Given the description of an element on the screen output the (x, y) to click on. 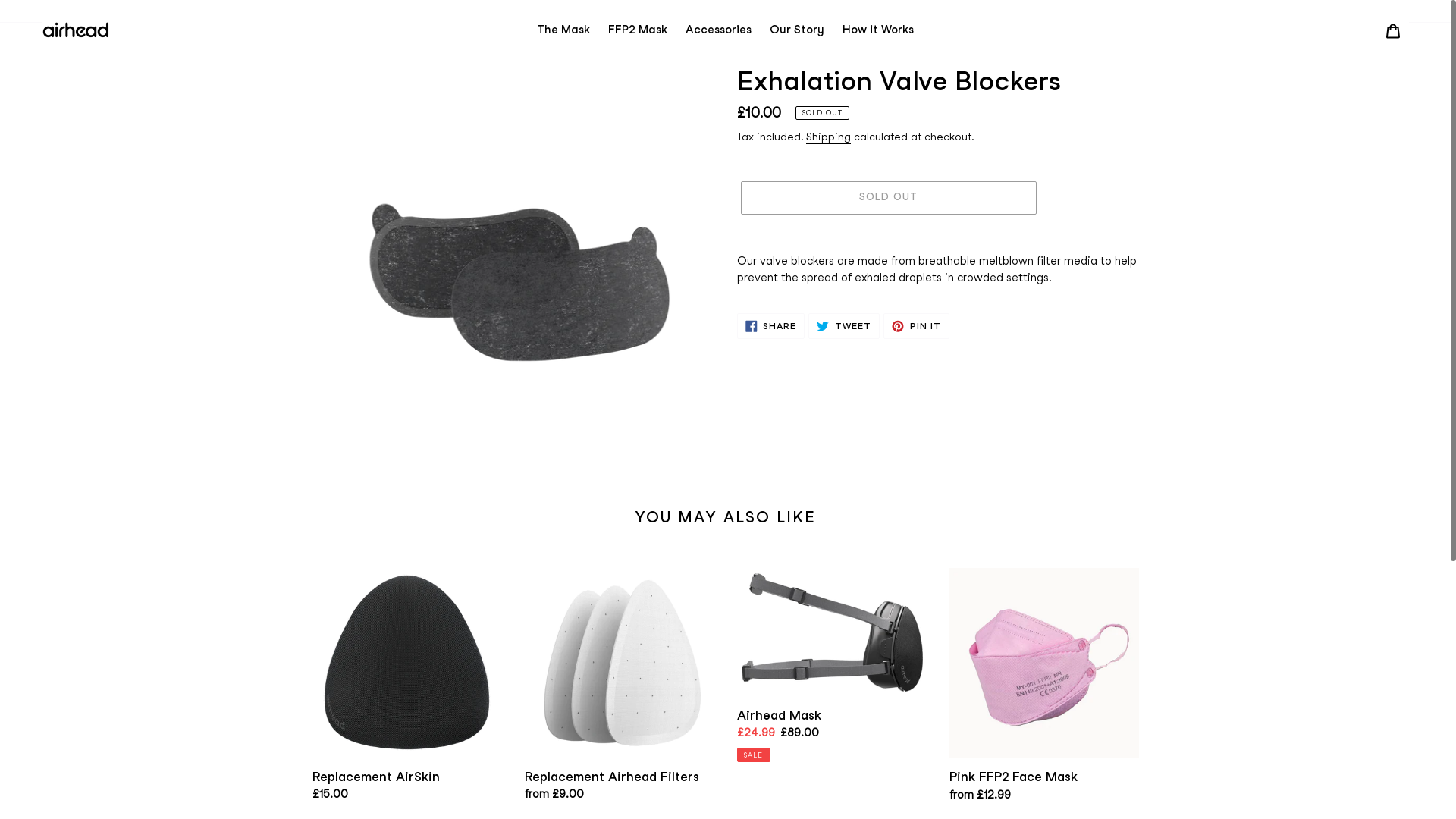
SOLD OUT Element type: text (887, 197)
Replacement AirSkin Element type: text (407, 688)
FFP2 Mask Element type: text (637, 29)
How it Works Element type: text (877, 29)
Airhead Mask Element type: text (831, 664)
Replacement Airhead Filters Element type: text (619, 688)
Search Element type: text (1372, 29)
Pink FFP2 Face Mask Element type: text (1044, 688)
Accessories Element type: text (718, 29)
TWEET
TWEET ON TWITTER Element type: text (843, 325)
Cart Element type: text (1392, 29)
SHARE
SHARE ON FACEBOOK Element type: text (771, 325)
Our Story Element type: text (796, 29)
The Mask Element type: text (563, 29)
Shipping Element type: text (827, 137)
PIN IT
PIN ON PINTEREST Element type: text (916, 325)
